Given the description of an element on the screen output the (x, y) to click on. 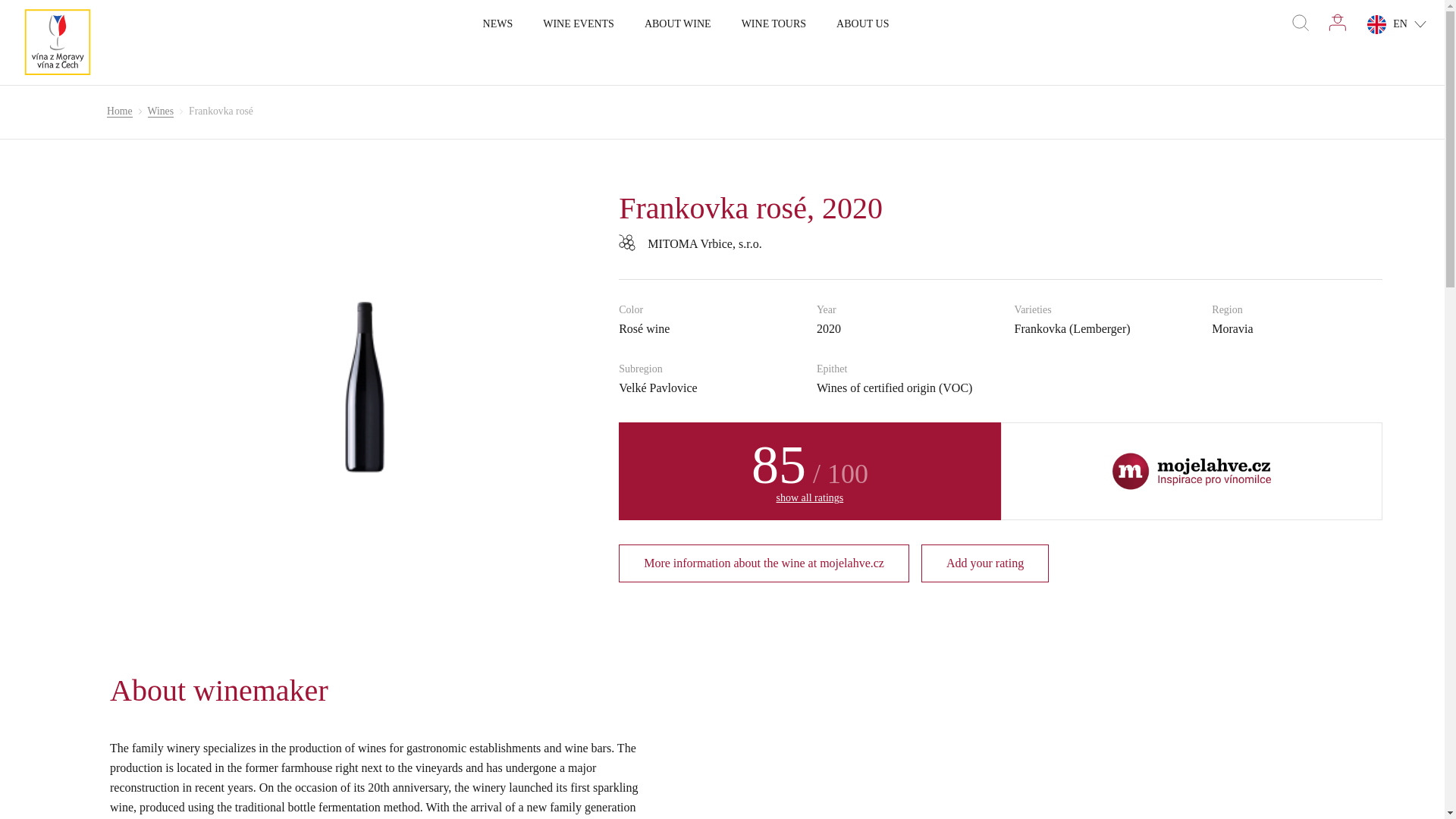
ABOUT WINE (678, 24)
Home (119, 111)
NEWS (498, 24)
More information about the wine at mojelahve.cz (764, 563)
WINE TOURS (773, 24)
ABOUT US (861, 24)
show all ratings (810, 497)
Wines (160, 111)
Add your rating (984, 563)
WINE EVENTS (578, 24)
